Given the description of an element on the screen output the (x, y) to click on. 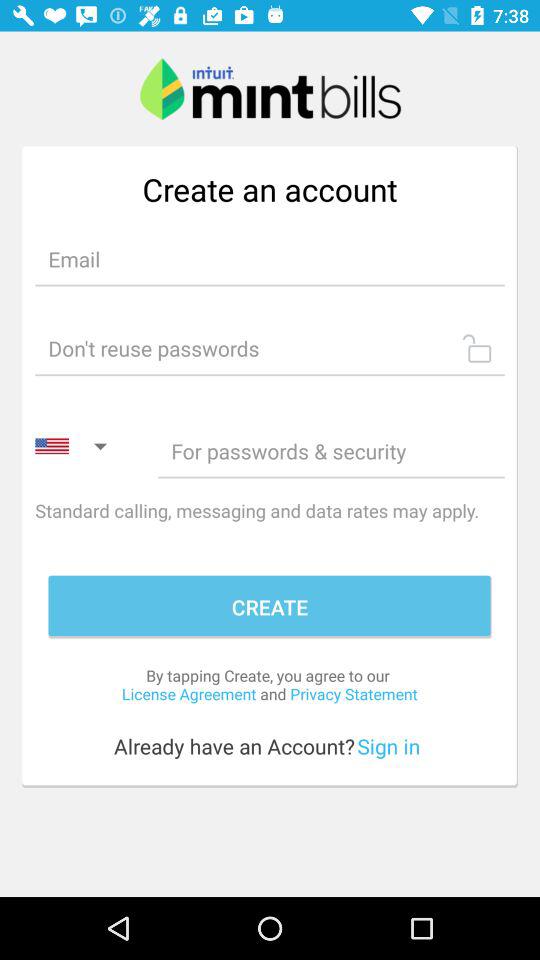
go to email option (269, 258)
